Given the description of an element on the screen output the (x, y) to click on. 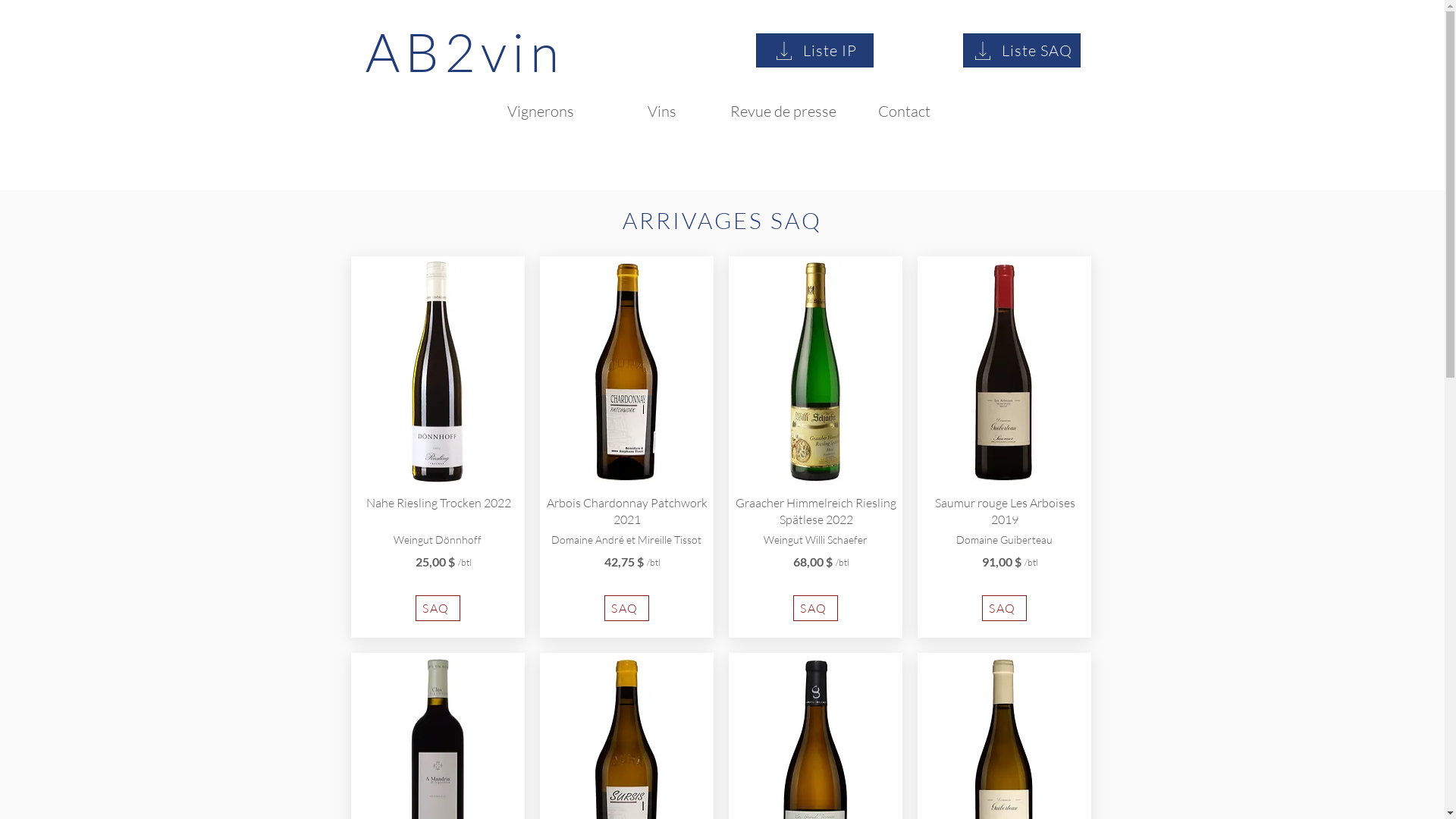
Liste IP Element type: text (813, 50)
SAQ Element type: text (625, 608)
Vignerons Element type: text (539, 111)
SAQ Element type: text (815, 608)
Contact Element type: text (903, 111)
Liste SAQ Element type: text (1021, 50)
SAQ Element type: text (1003, 608)
WS Himmelreich Spatlese.jpg Element type: hover (815, 371)
AB2vin Element type: text (464, 50)
DO Riesl trocken.jpg Element type: hover (437, 371)
TISS Pachwork.jpg Element type: hover (625, 371)
Revue de presse Element type: text (782, 111)
GUI_arboises2015.jpg Element type: hover (1003, 371)
SAQ Element type: text (437, 608)
Vins Element type: text (660, 111)
